Given the description of an element on the screen output the (x, y) to click on. 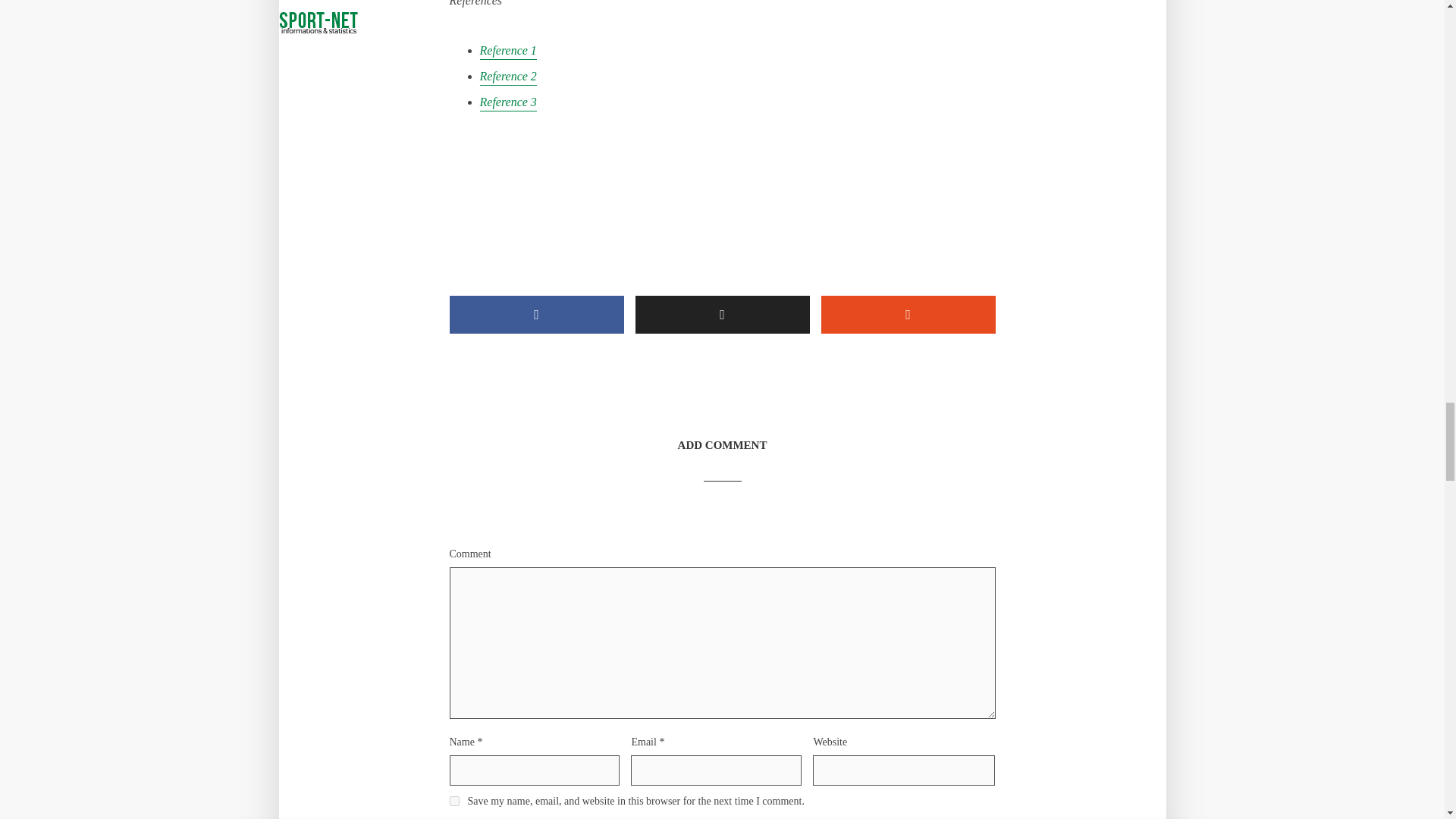
Reference 1 (507, 51)
Reference 3 (507, 103)
Reference 2 (507, 77)
yes (453, 800)
